Given the description of an element on the screen output the (x, y) to click on. 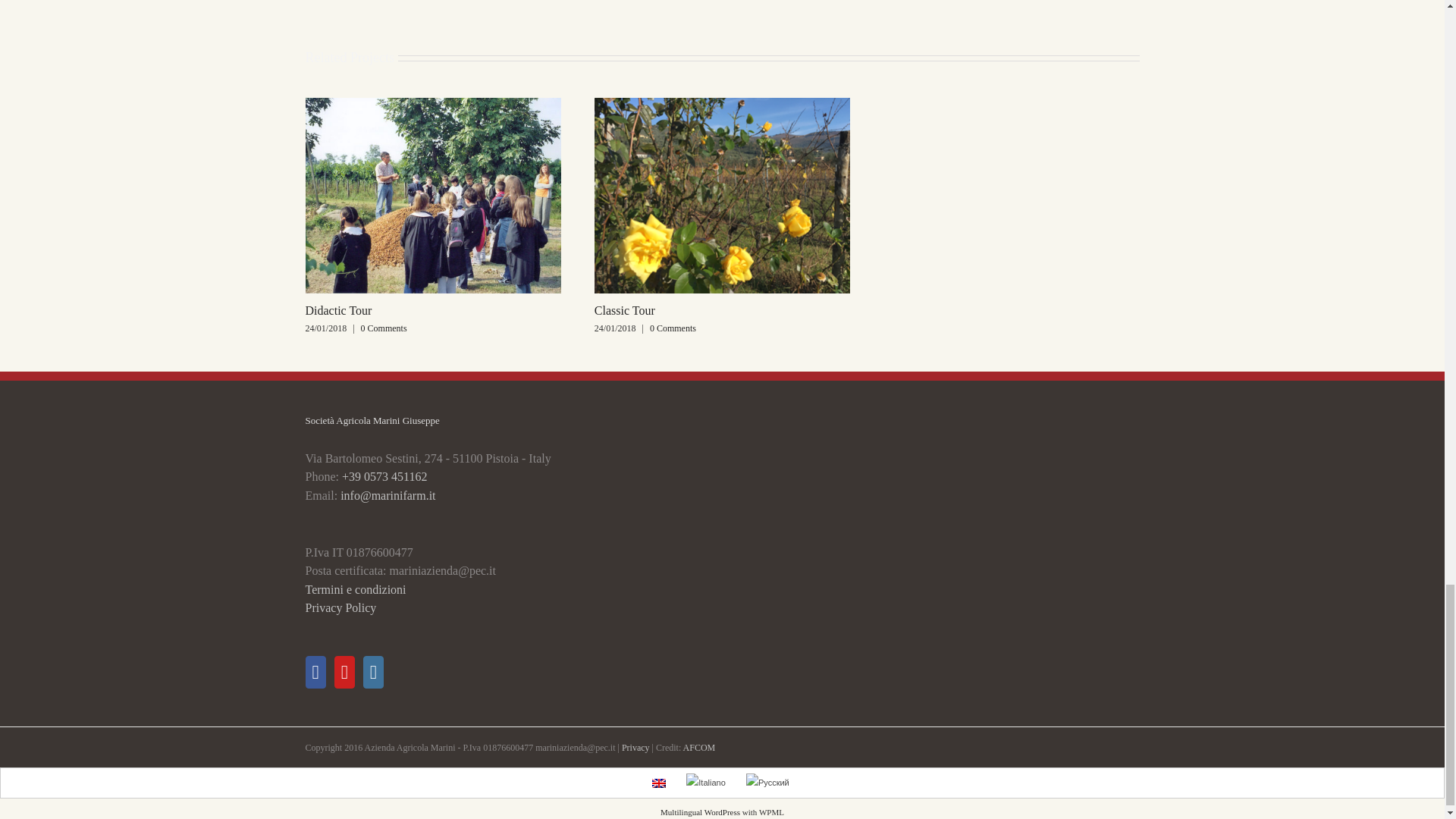
Privacy Policy  (339, 607)
Didactic Tour (337, 309)
Classic Tour (624, 309)
